Given the description of an element on the screen output the (x, y) to click on. 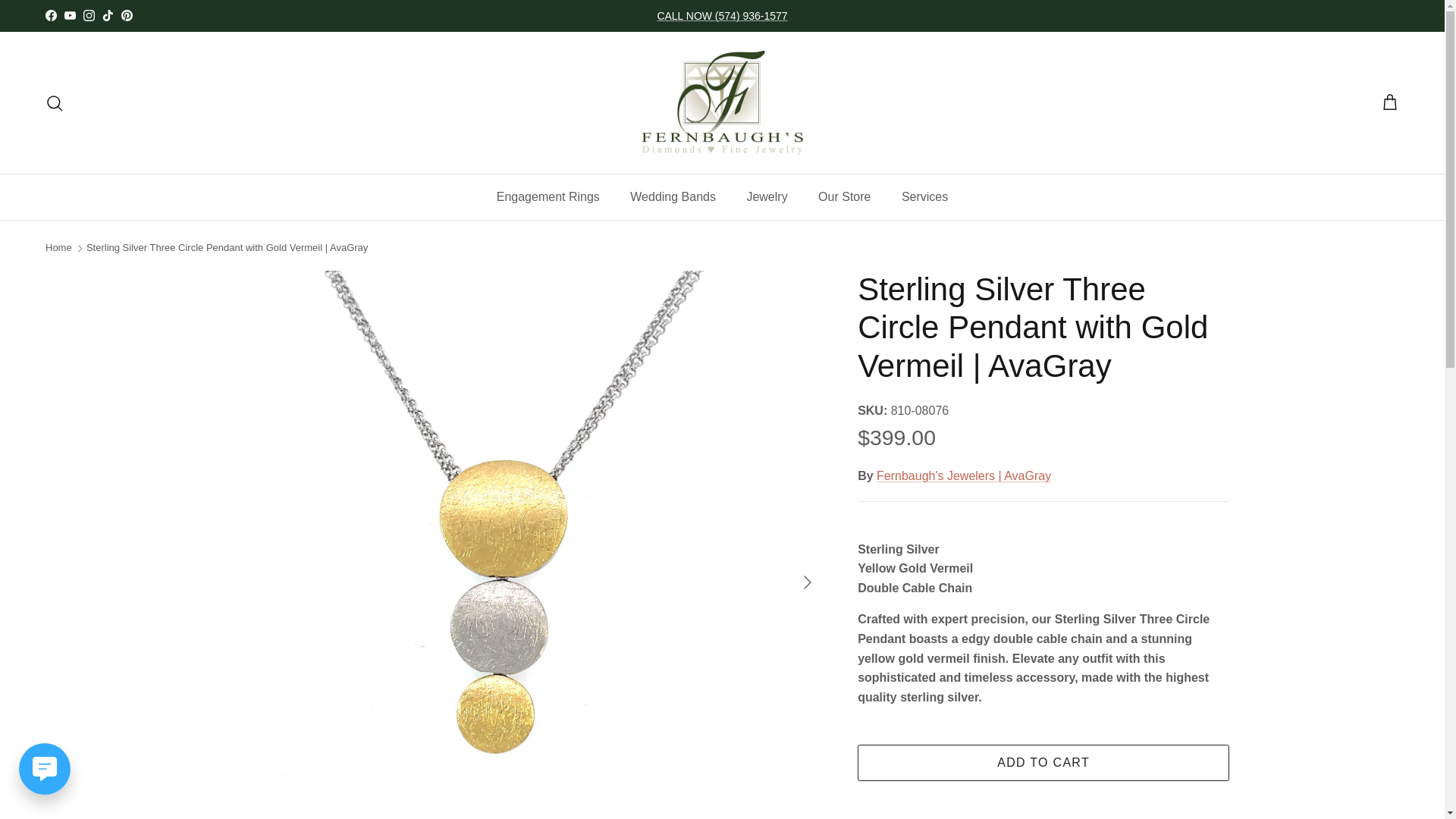
Fernbaugh's Jewelers on TikTok (107, 15)
Fernbaugh's Jewelers on Pinterest (126, 15)
YouTube (69, 15)
Cart (1389, 103)
Fernbaugh's Jewelers on Instagram (88, 15)
TikTok (107, 15)
Search (54, 103)
Jewelry (766, 197)
Pinterest (126, 15)
tel:15749361577 (721, 15)
Fernbaugh's Jewelers on YouTube (69, 15)
Engagement Rings (547, 197)
Fernbaugh's Jewelers on Facebook (50, 15)
Wedding Bands (672, 197)
Facebook (50, 15)
